Given the description of an element on the screen output the (x, y) to click on. 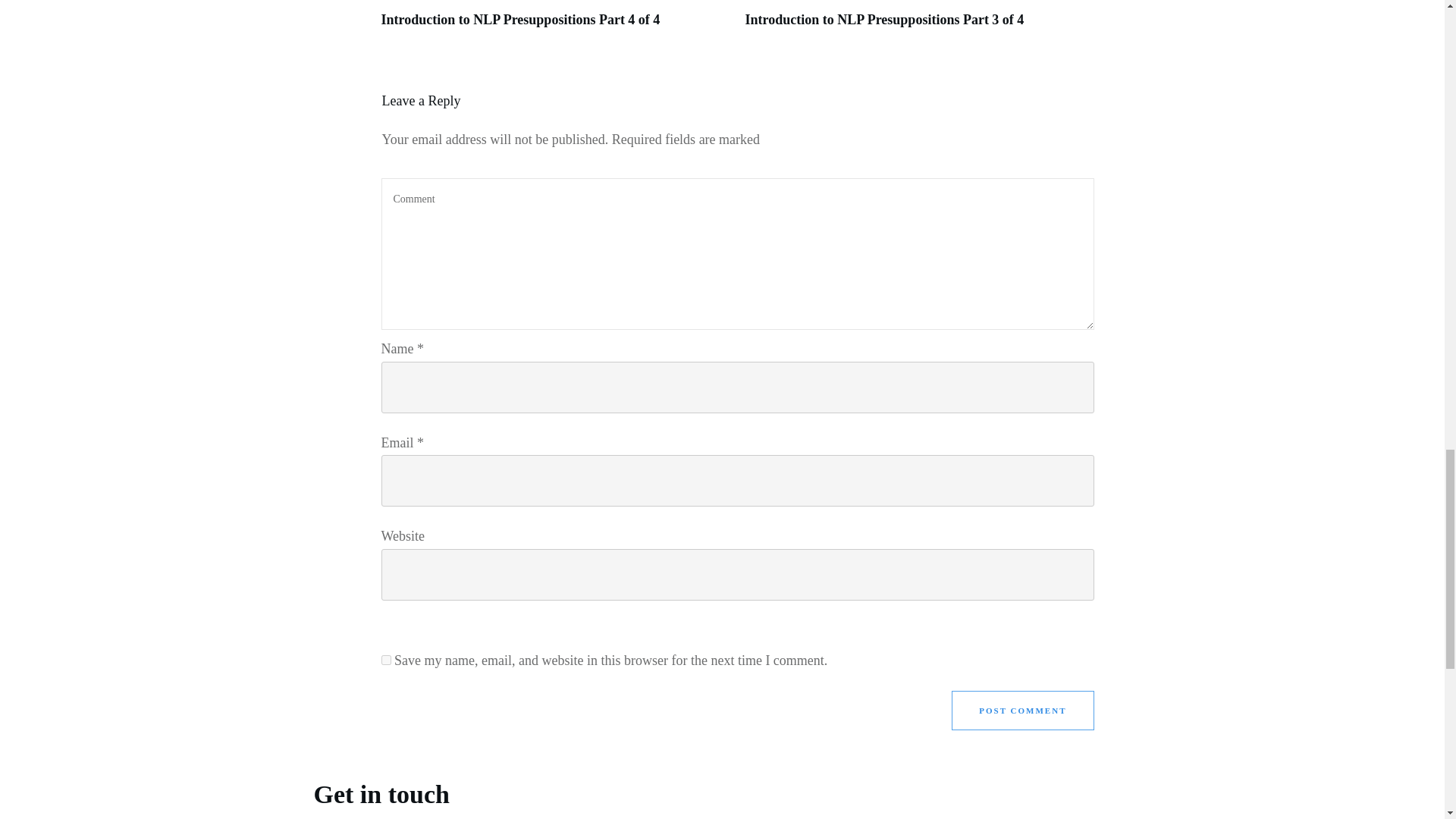
Introduction to NLP Presuppositions Part 4 of 4 (519, 19)
POST COMMENT (1022, 710)
Introduction to NLP Presuppositions Part 3 of 4 (883, 19)
Introduction to NLP Presuppositions Part 4 of 4 (554, 22)
Introduction to NLP Presuppositions Part 4 of 4 (519, 19)
Introduction to NLP Presuppositions Part 3 of 4 (883, 19)
yes (385, 660)
Introduction to NLP Presuppositions Part 3 of 4 (918, 22)
